Given the description of an element on the screen output the (x, y) to click on. 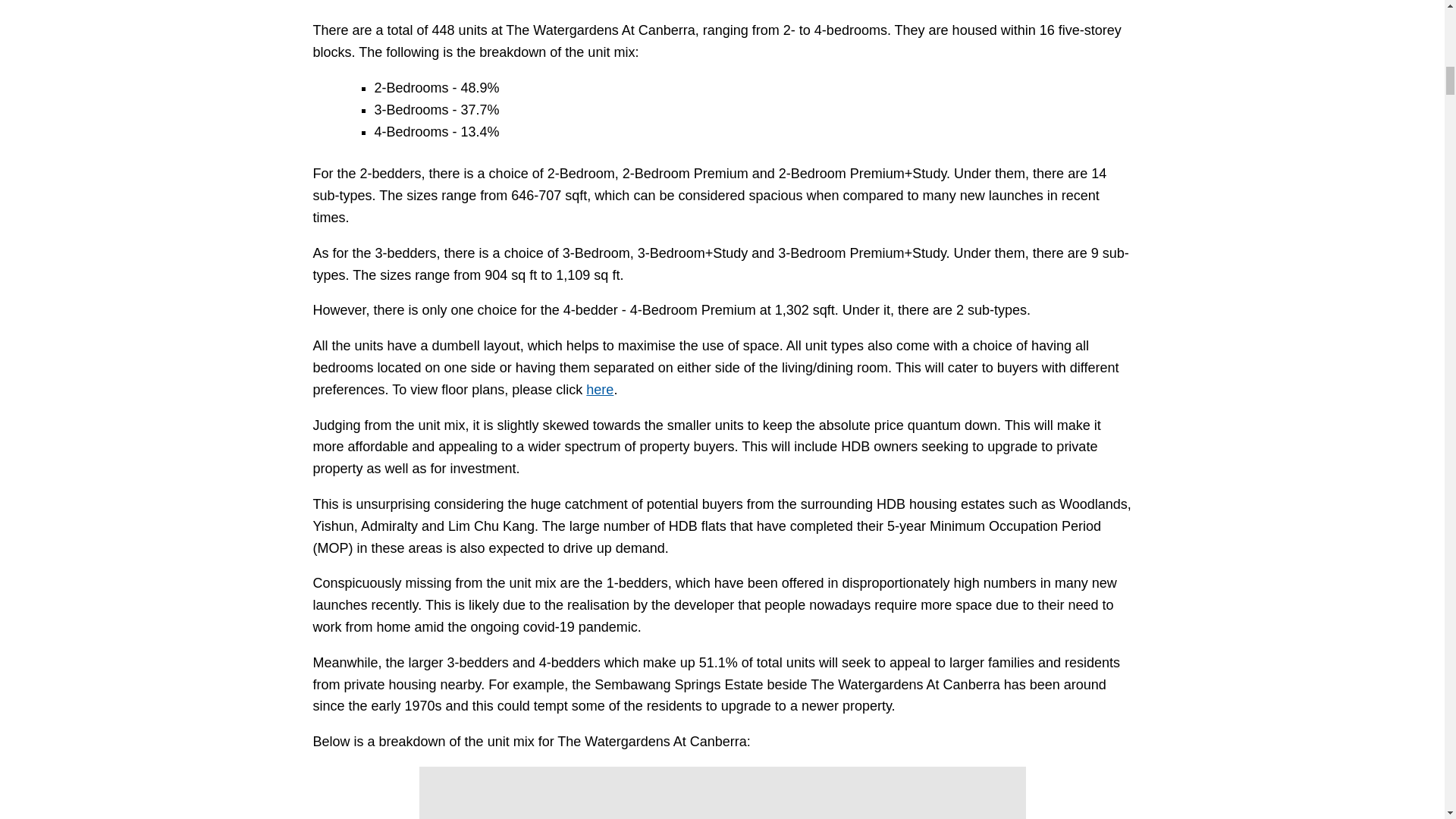
The Watergardens Floor Plans (599, 389)
The Watergardens At Canberra Unit Mix (722, 792)
